Given the description of an element on the screen output the (x, y) to click on. 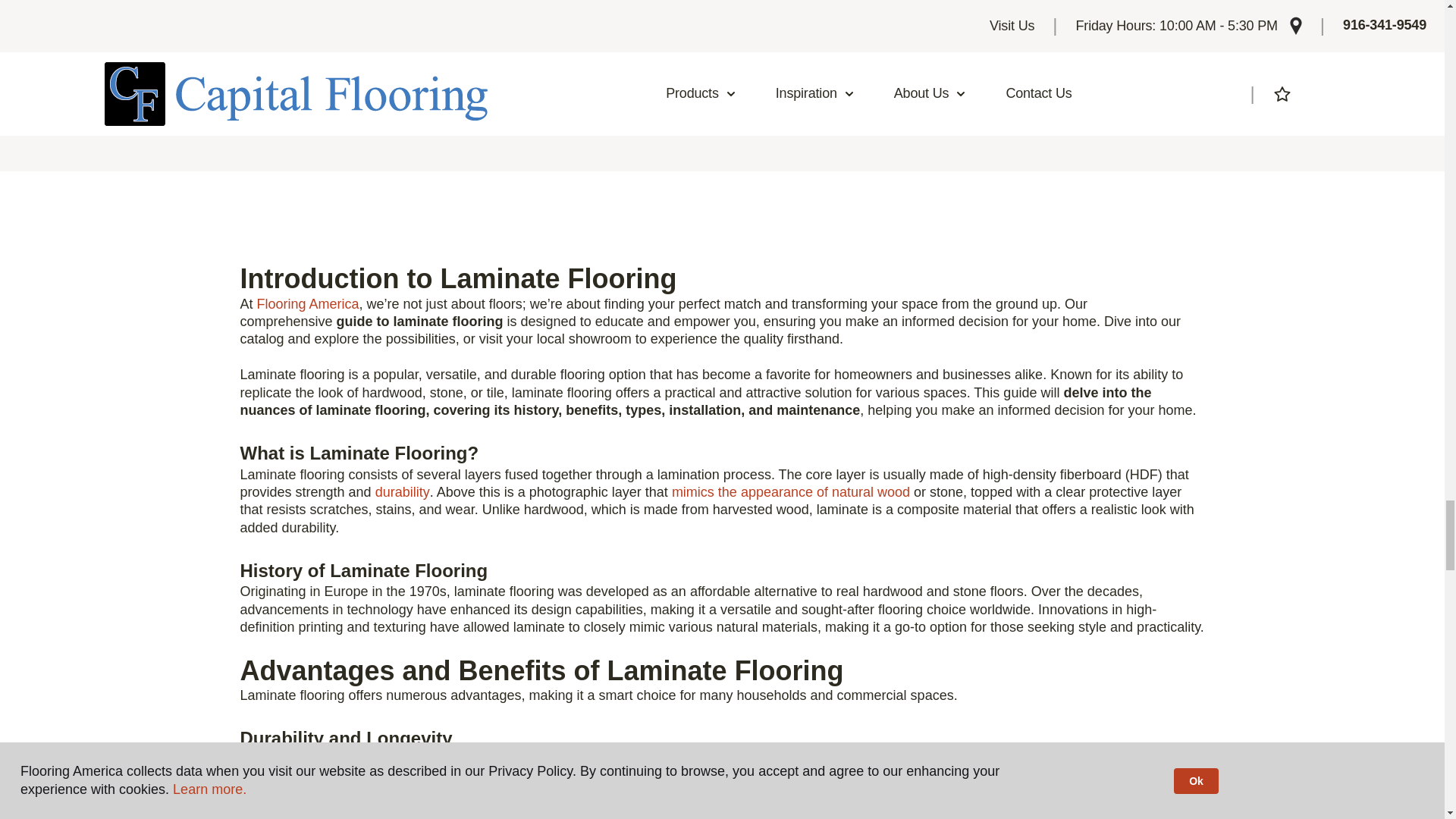
Current Page (697, 49)
Page 2 (746, 49)
Next Page (791, 41)
Previous Page (652, 41)
